Given the description of an element on the screen output the (x, y) to click on. 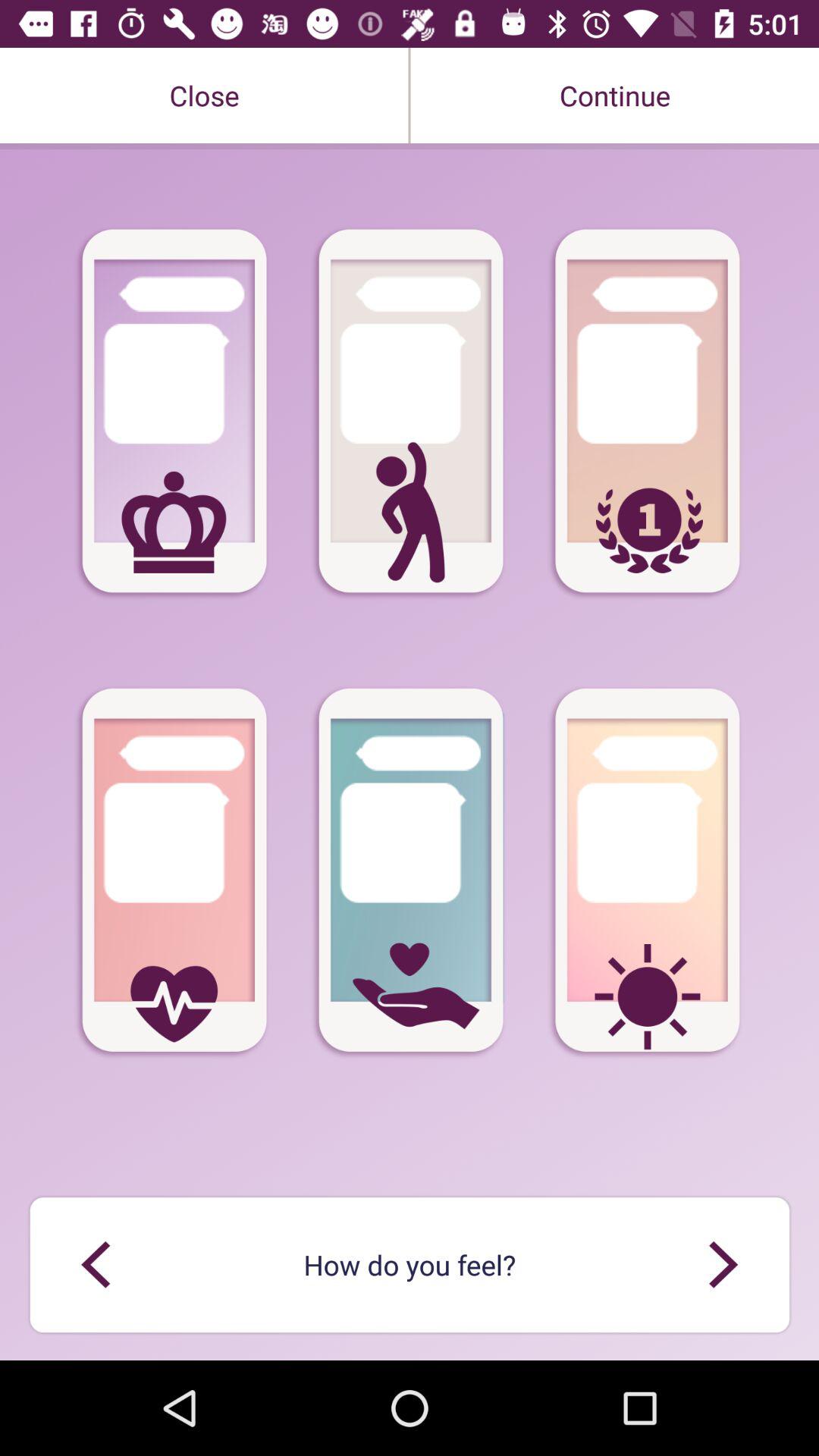
preview icone (95, 1264)
